Given the description of an element on the screen output the (x, y) to click on. 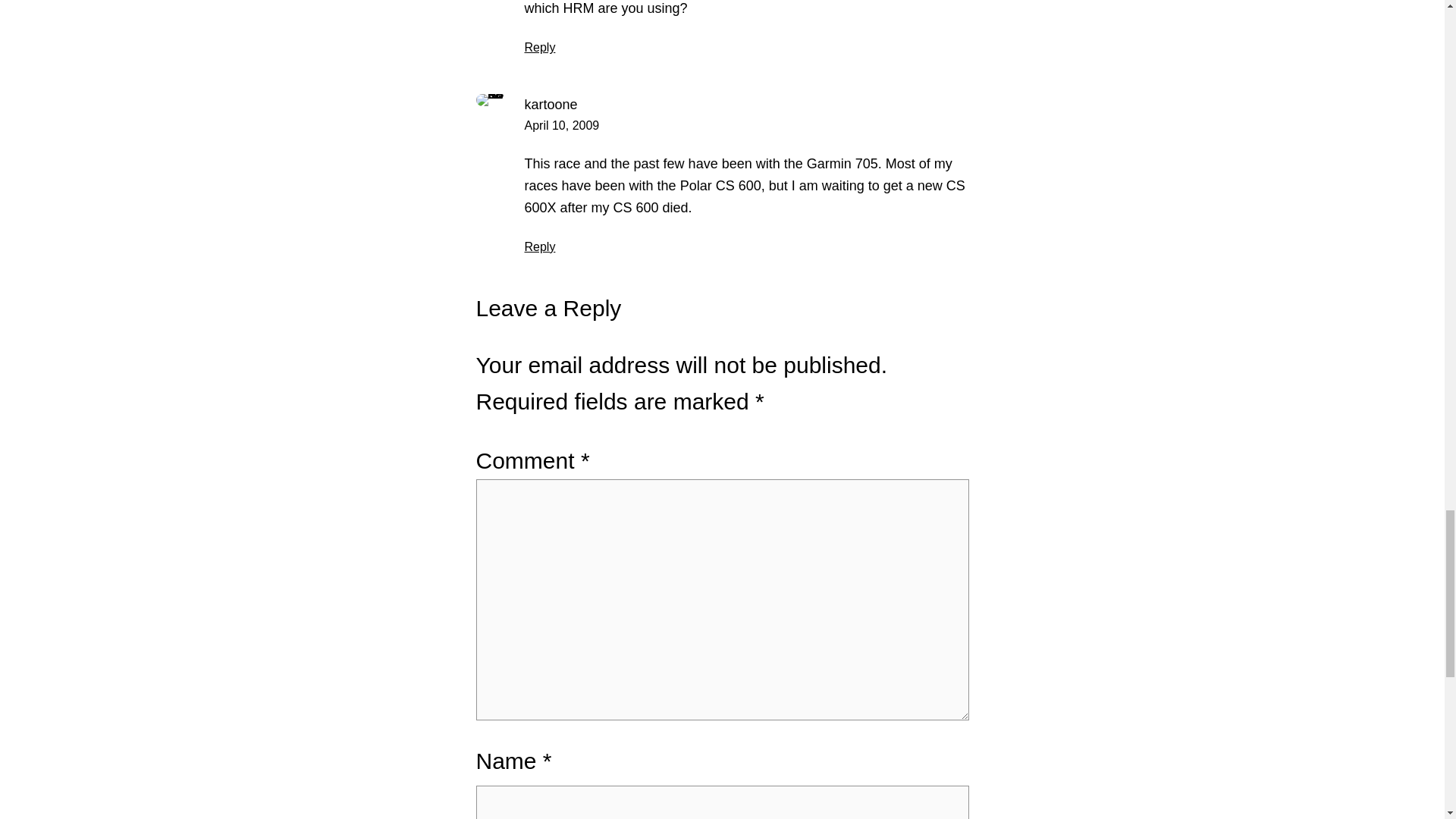
Reply (540, 246)
Reply (540, 47)
April 10, 2009 (561, 124)
